Given the description of an element on the screen output the (x, y) to click on. 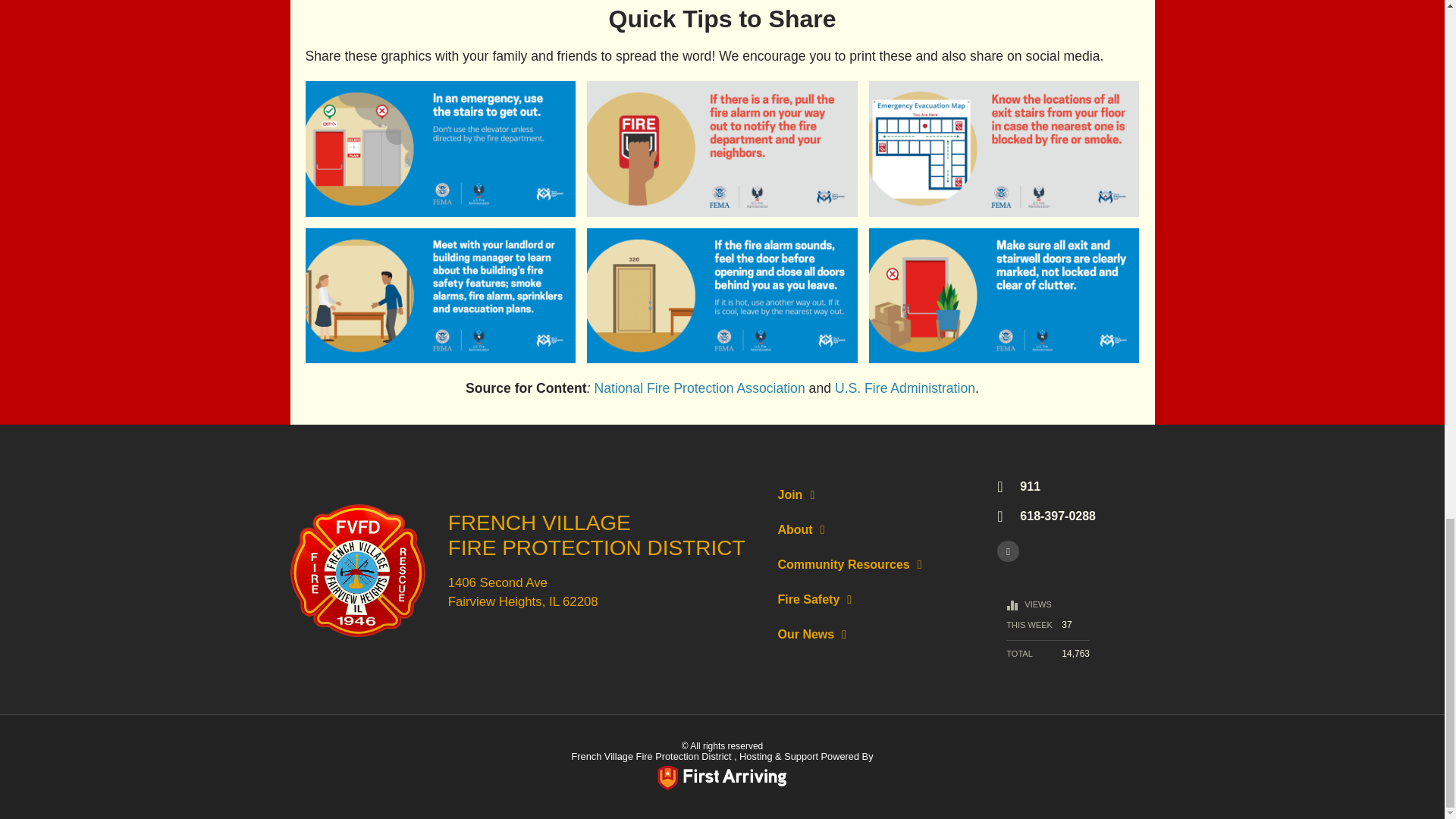
Ready-PNG.png (722, 777)
